Given the description of an element on the screen output the (x, y) to click on. 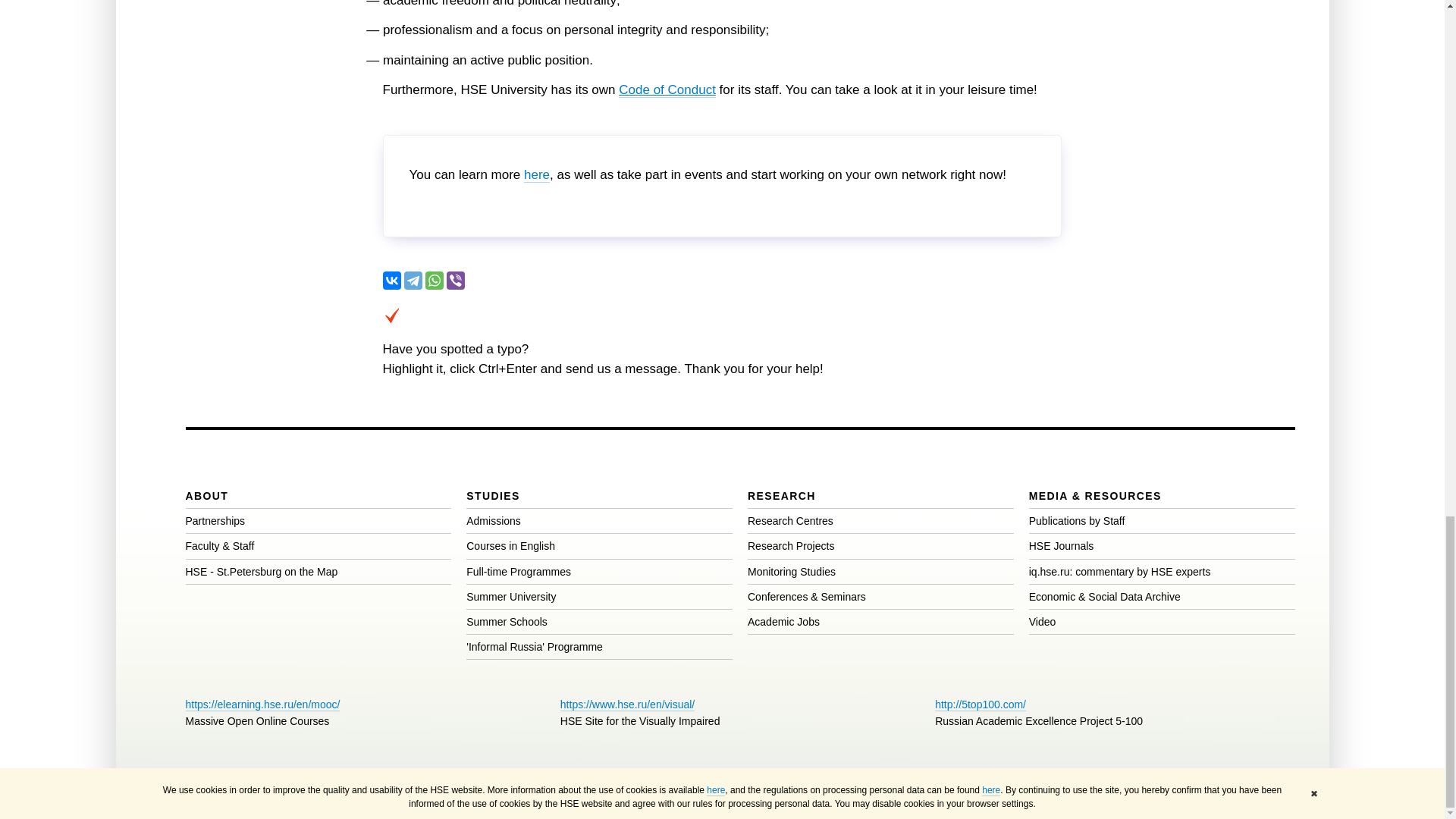
Telegram (412, 280)
Courses in English (509, 545)
Monitoring Studies (791, 571)
Code of Conduct (667, 89)
Research Projects (791, 545)
VKontakte (390, 280)
Viber (454, 280)
STUDIES (492, 495)
Partnerships (214, 521)
RESEARCH (781, 495)
